Given the description of an element on the screen output the (x, y) to click on. 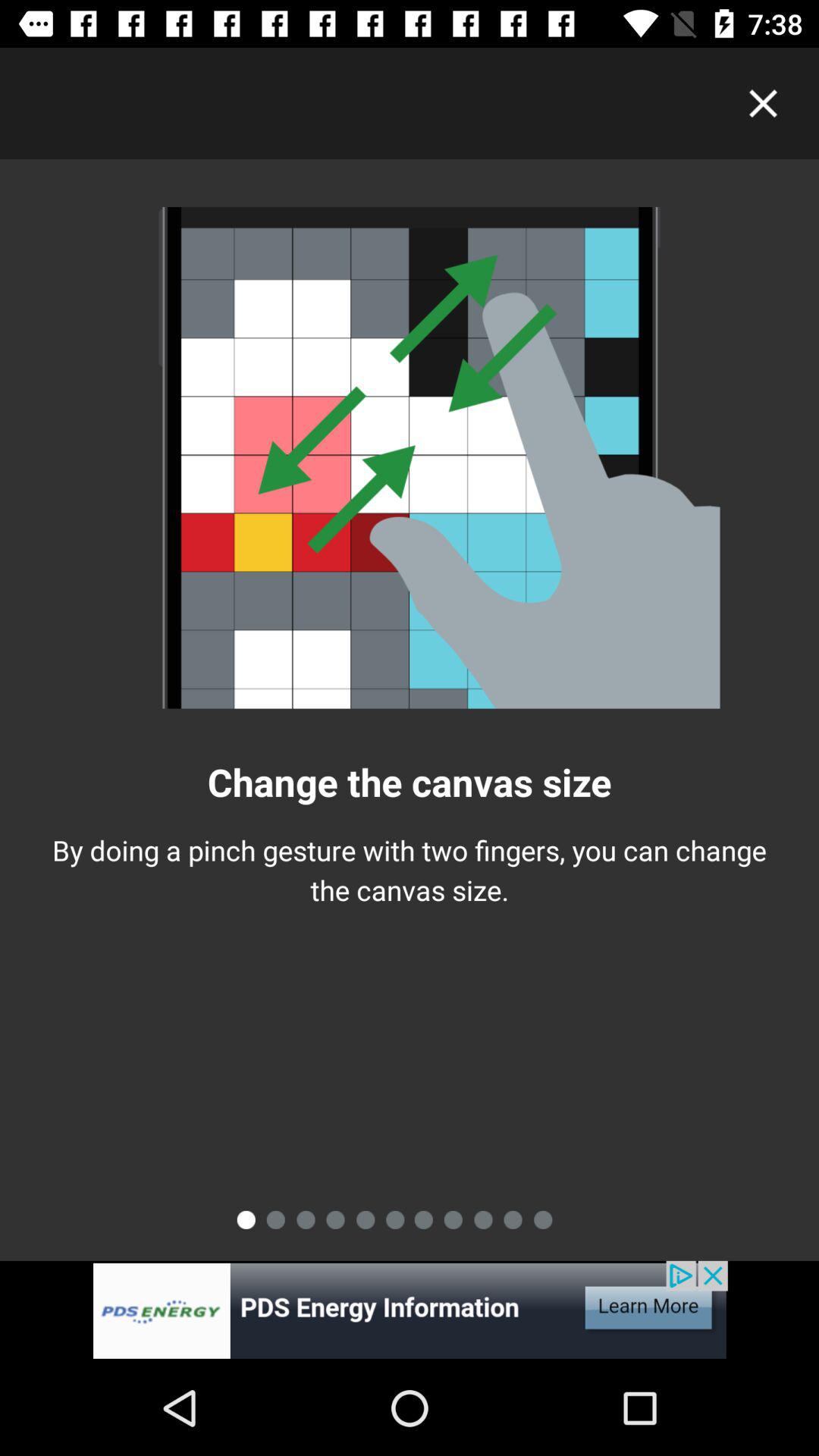
close window (763, 103)
